Given the description of an element on the screen output the (x, y) to click on. 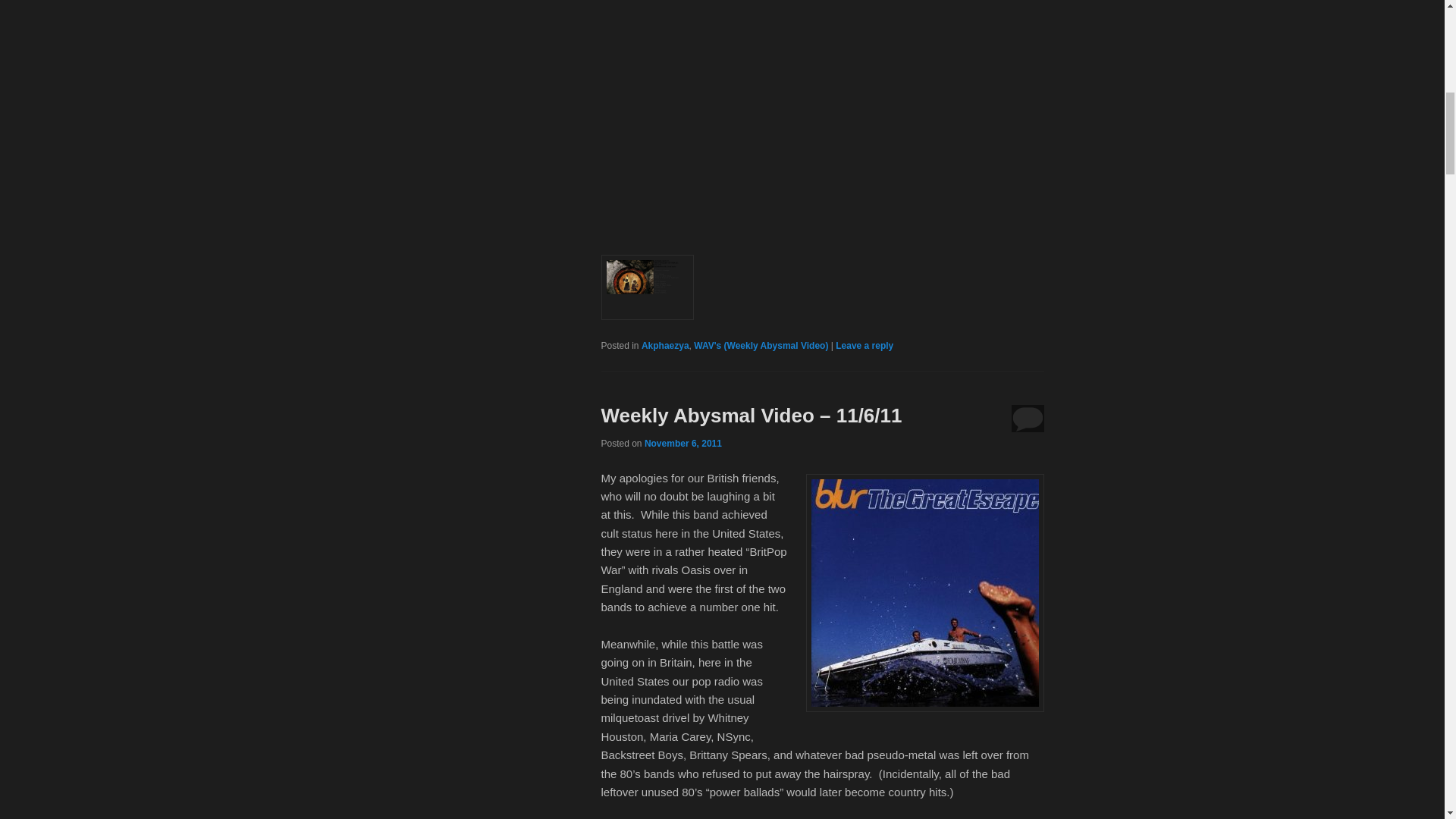
1:42 pm (683, 443)
Leave a reply (864, 345)
Blur Great Escape (924, 592)
Akphaezya (665, 345)
November 6, 2011 (683, 443)
Akphaezya Anthology IV (646, 287)
